Given the description of an element on the screen output the (x, y) to click on. 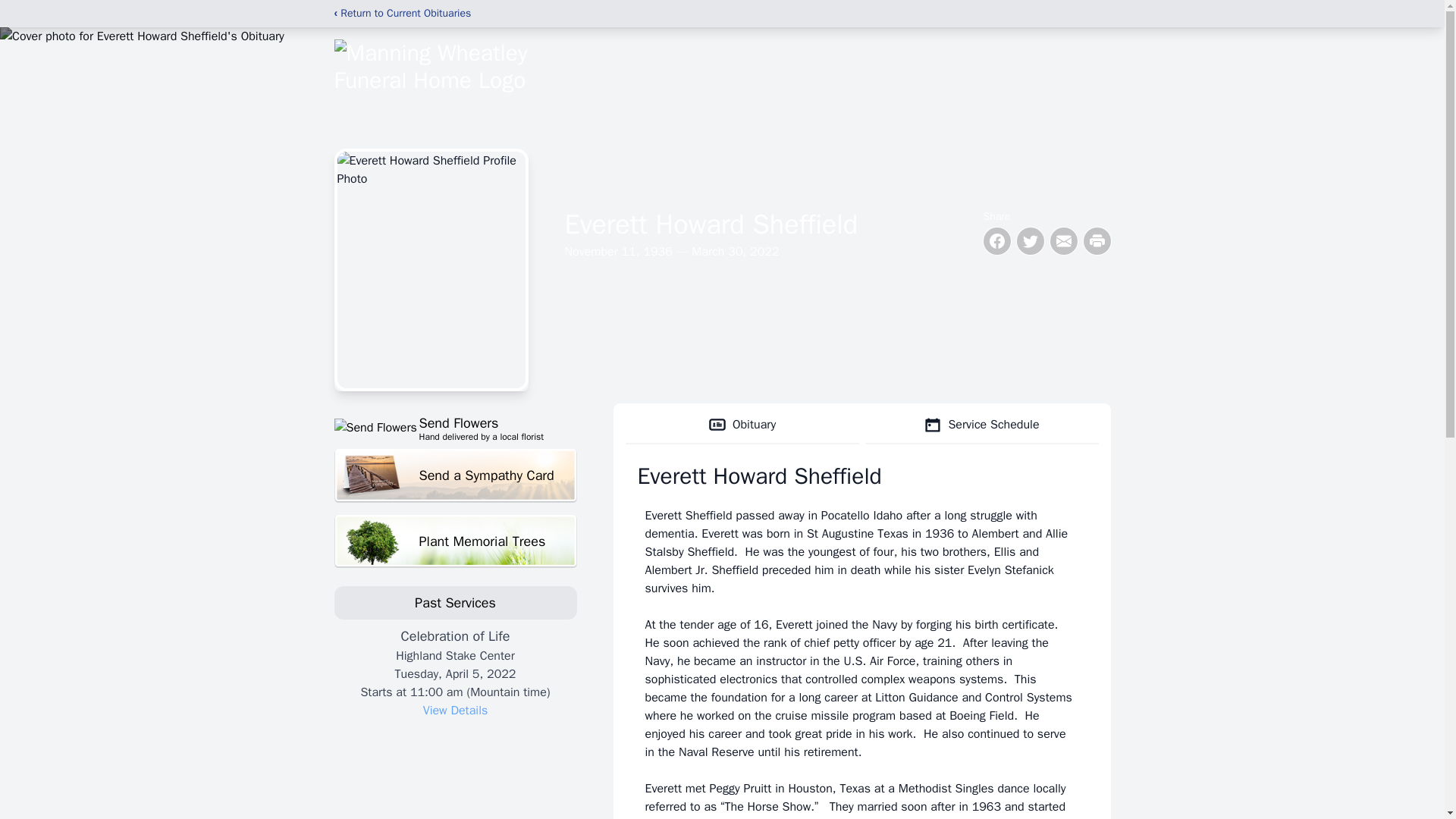
Send a Sympathy Card (454, 475)
View Details (455, 710)
Obituary (741, 425)
Service Schedule (980, 425)
Plant Memorial Trees (454, 541)
